Given the description of an element on the screen output the (x, y) to click on. 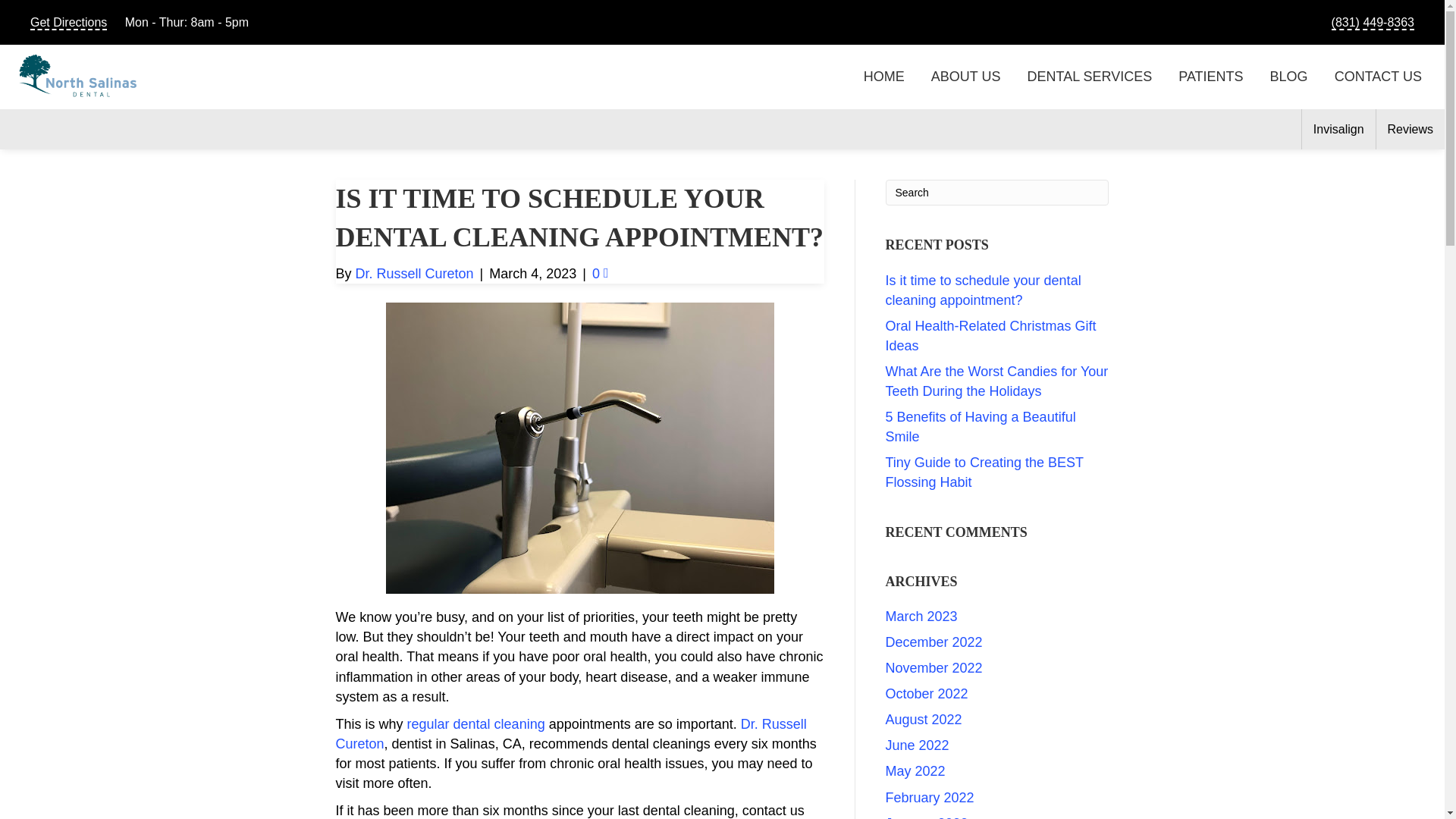
DENTAL SERVICES (1088, 76)
Dr. Russell Cureton (414, 273)
Reviews (1409, 128)
Search (997, 192)
Invisalign (1338, 128)
Get Directions (68, 24)
Dr. Russell Cureton (570, 733)
0 (600, 273)
CONTACT US (1378, 76)
HOME (883, 76)
regular dental cleaning (475, 724)
BLOG (1288, 76)
ABOUT US (966, 76)
PATIENTS (1210, 76)
Search (997, 192)
